Given the description of an element on the screen output the (x, y) to click on. 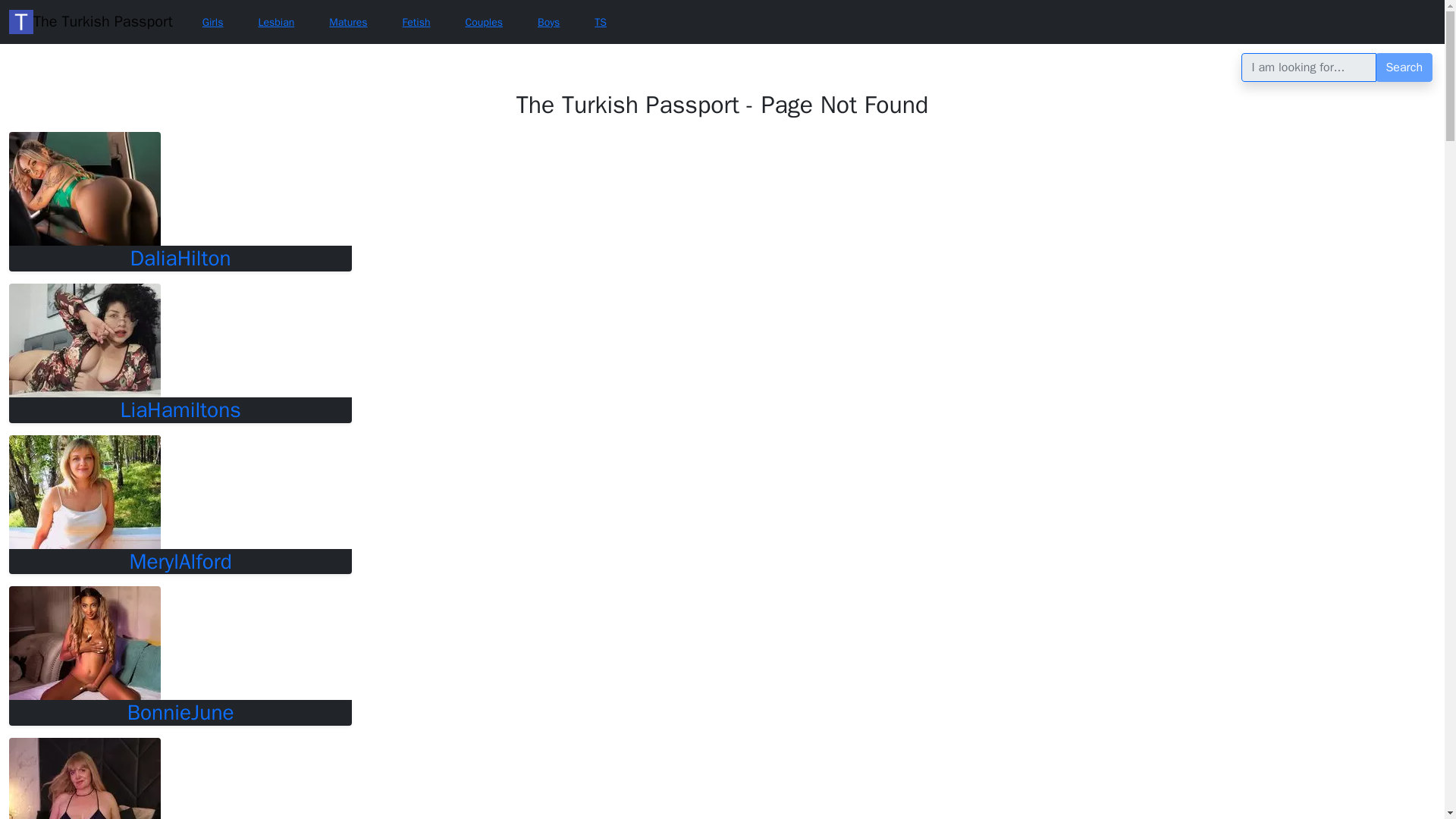
Start Anal Finger DaliaHilton (180, 258)
 The Turkish Passport (90, 21)
TS (600, 22)
Boys (548, 22)
Start Anal Finger MerylAlford (84, 491)
Lesbian (275, 22)
Fetish (417, 22)
Girls (212, 22)
Lesbian (275, 22)
Boys (548, 22)
